Given the description of an element on the screen output the (x, y) to click on. 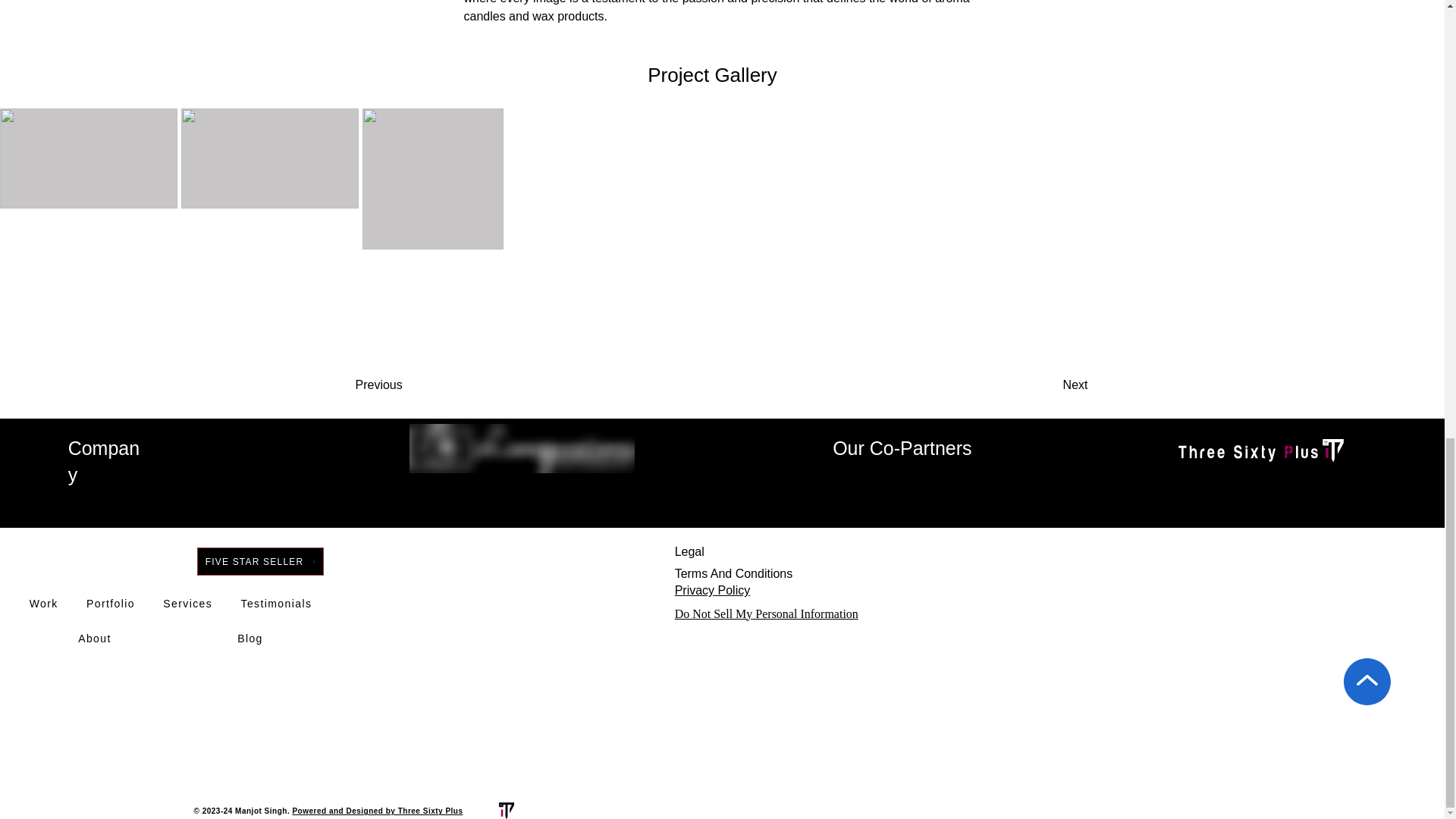
Our Partners (1271, 481)
Next (1036, 385)
About (94, 638)
Portfolio (110, 604)
Previous (416, 385)
Blog (250, 638)
FIVE STAR SELLER (259, 561)
Work (42, 604)
Services (188, 604)
Testimonials (276, 604)
